Given the description of an element on the screen output the (x, y) to click on. 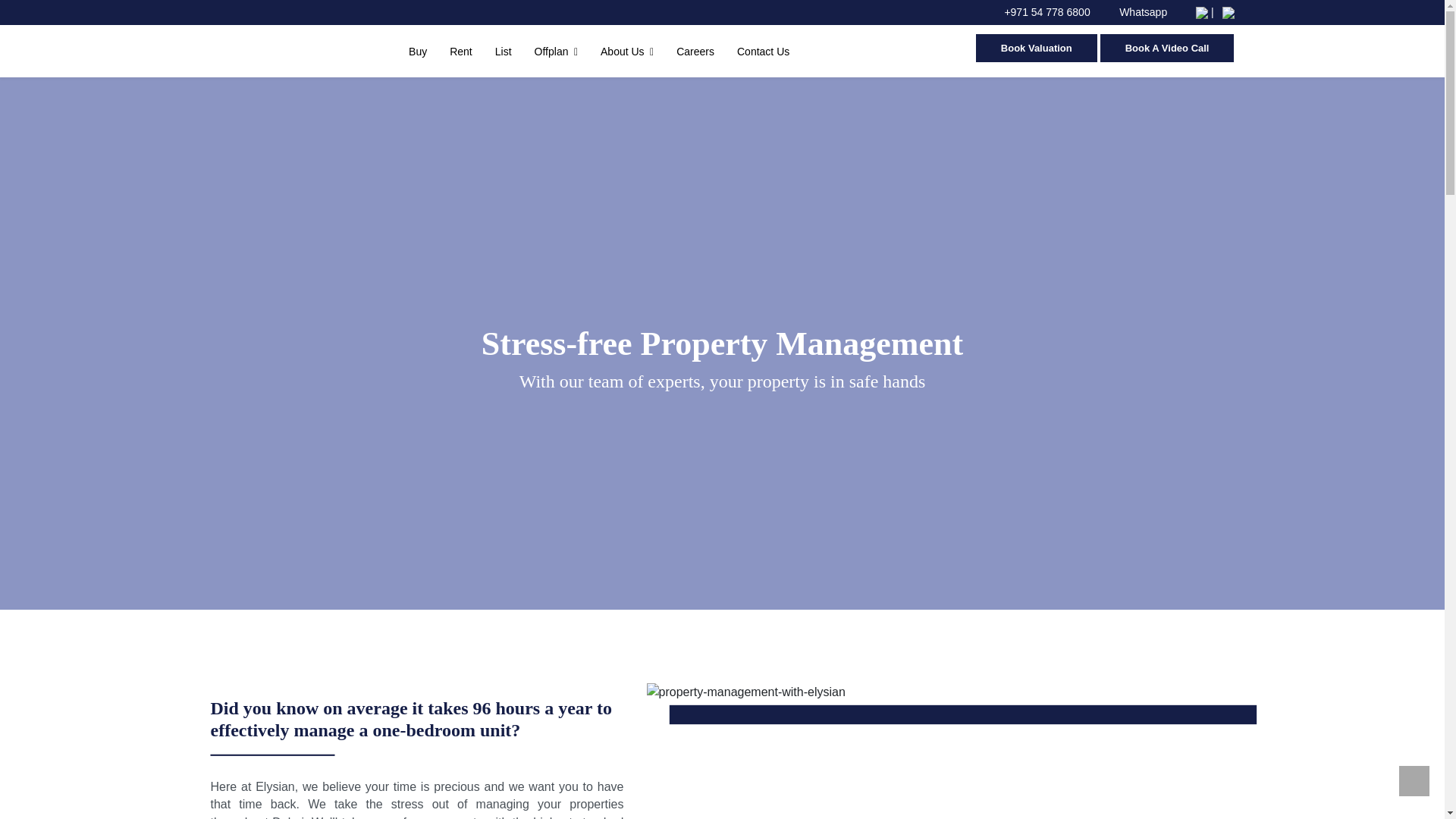
Buy (417, 48)
Book Valuation (1036, 48)
Careers (695, 48)
Contact Us (762, 48)
Rent (461, 48)
List (503, 48)
Whatsapp (1136, 11)
About Us (626, 48)
Offplan (556, 48)
Book A Video Call (1167, 48)
